Given the description of an element on the screen output the (x, y) to click on. 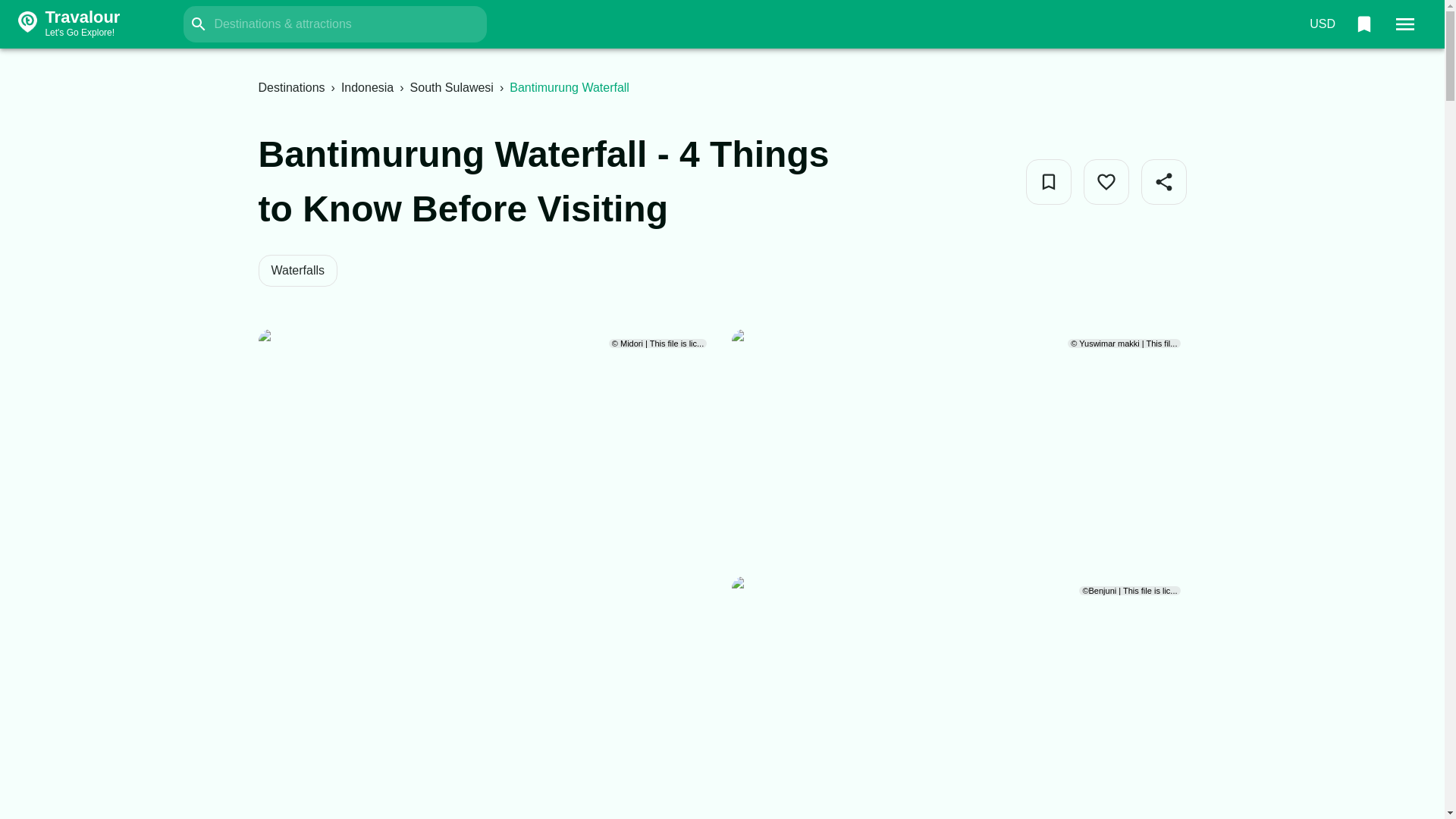
USD (1321, 23)
South Sulawesi (451, 87)
Destinations (97, 23)
Indonesia (290, 87)
Like (366, 87)
Add to Bucket List (1105, 181)
Share (1047, 181)
0 (1163, 181)
